Given the description of an element on the screen output the (x, y) to click on. 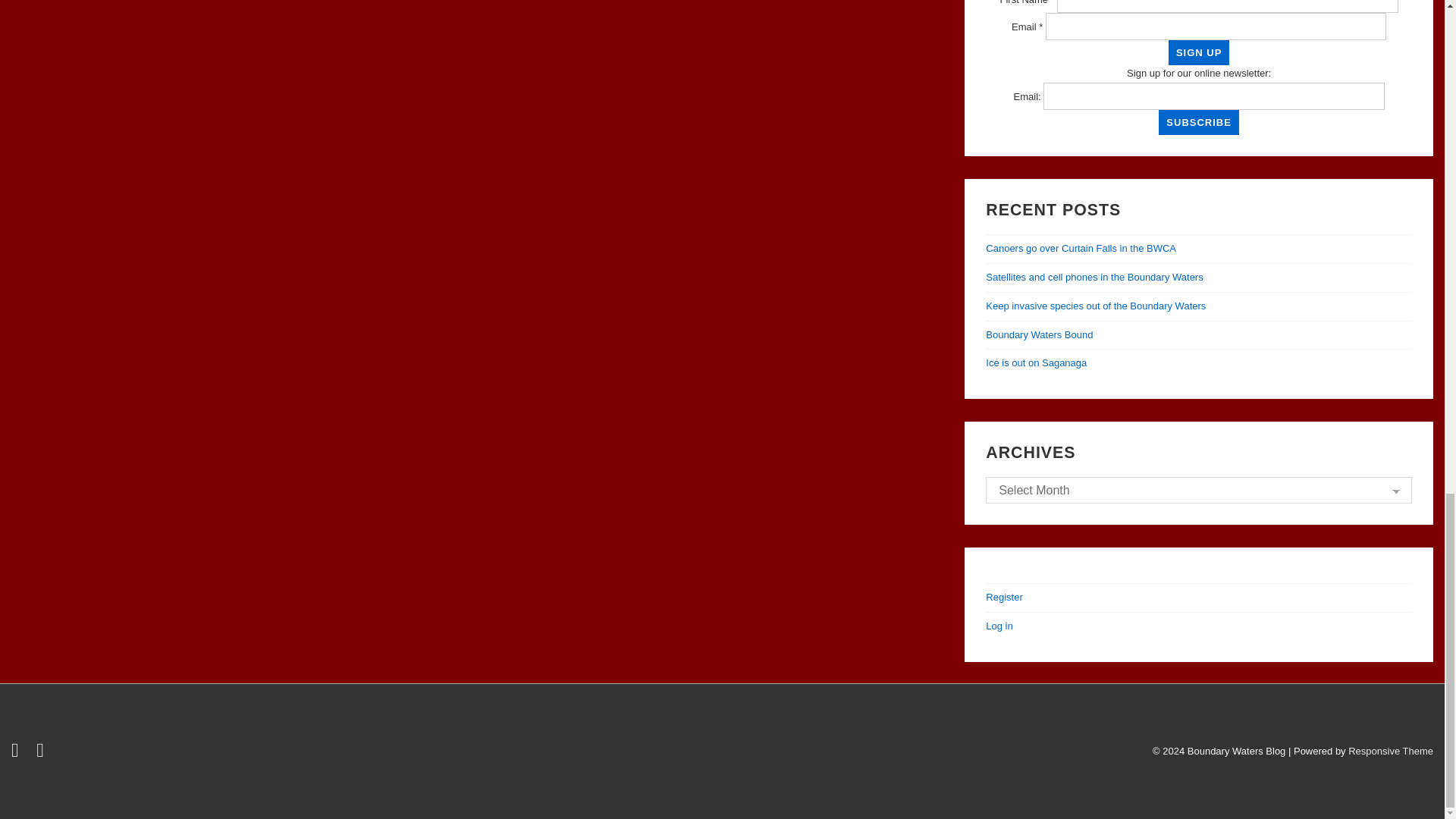
Canoers go over Curtain Falls in the BWCA (1080, 247)
Satellites and cell phones in the Boundary Waters (1093, 276)
Subscribe (1198, 122)
facebook (42, 753)
twitter (17, 753)
Subscribe (1198, 122)
Sign Up (1198, 52)
Sign Up (1198, 52)
Keep invasive species out of the Boundary Waters (1095, 306)
